Given the description of an element on the screen output the (x, y) to click on. 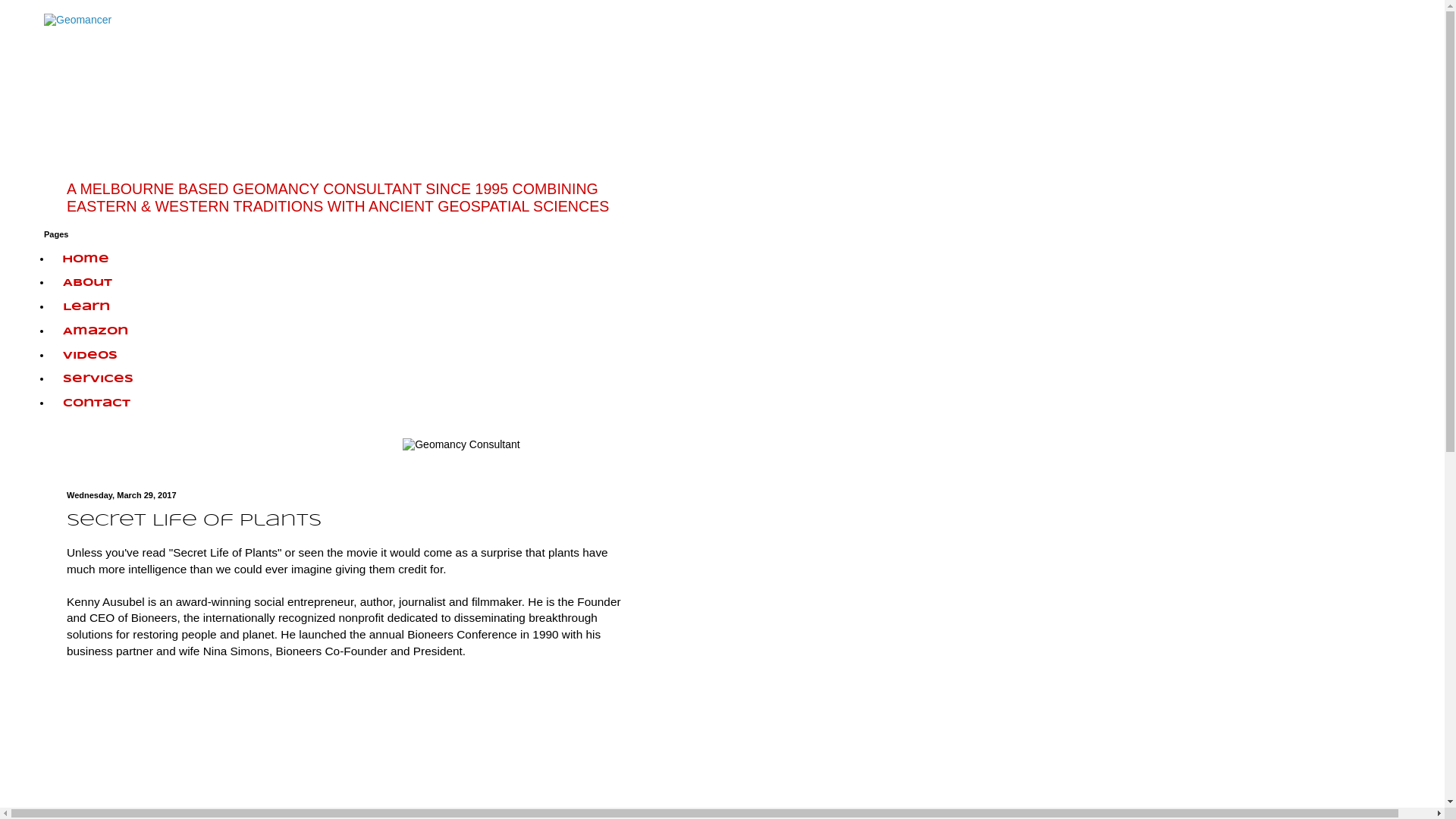
Amazon Element type: text (95, 332)
Videos Element type: text (89, 355)
Contact Element type: text (96, 404)
Learn Element type: text (86, 307)
Home Element type: text (85, 259)
Services Element type: text (97, 379)
About Element type: text (87, 283)
